Given the description of an element on the screen output the (x, y) to click on. 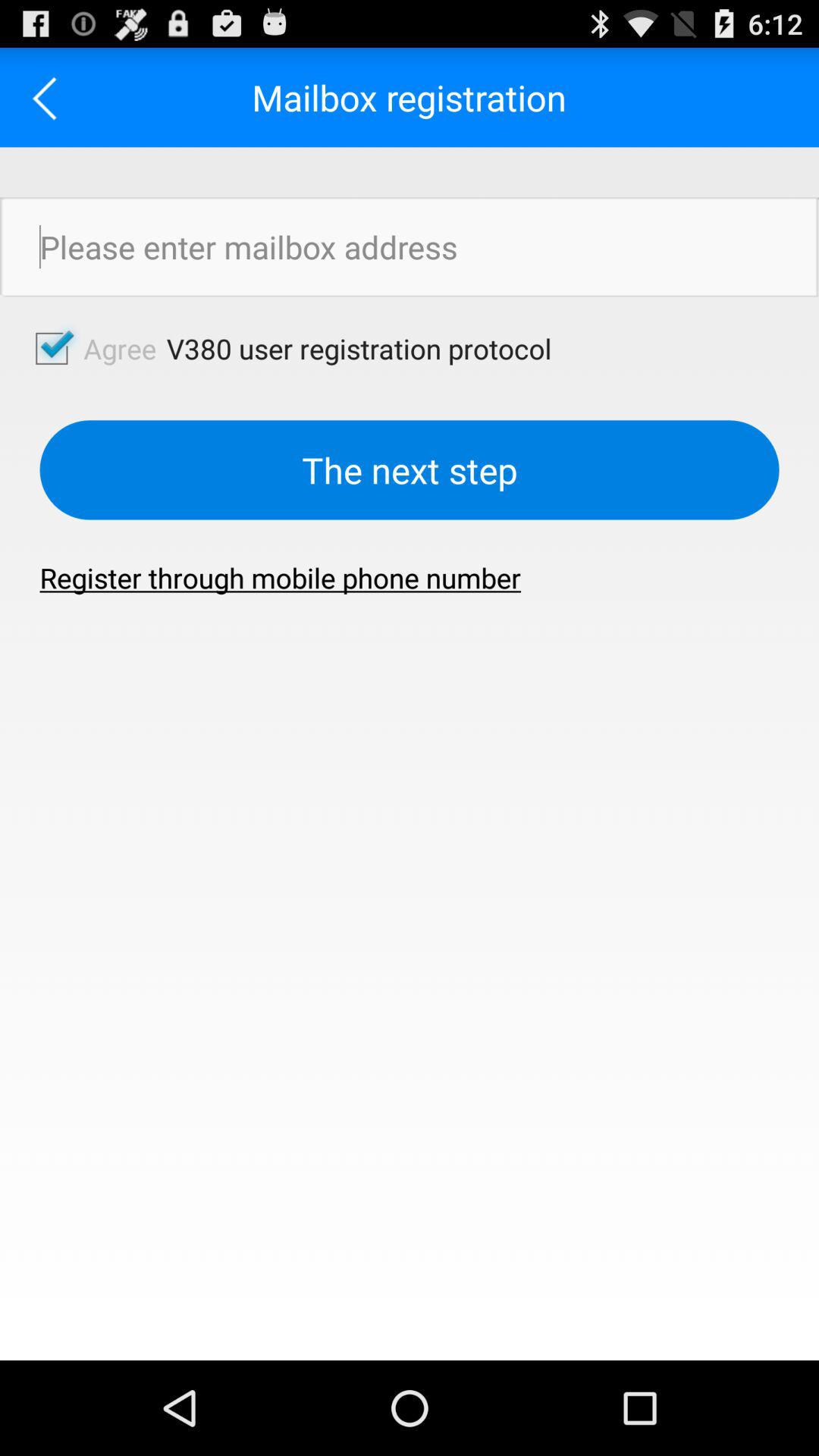
choose the item to the left of mailbox registration app (49, 97)
